Given the description of an element on the screen output the (x, y) to click on. 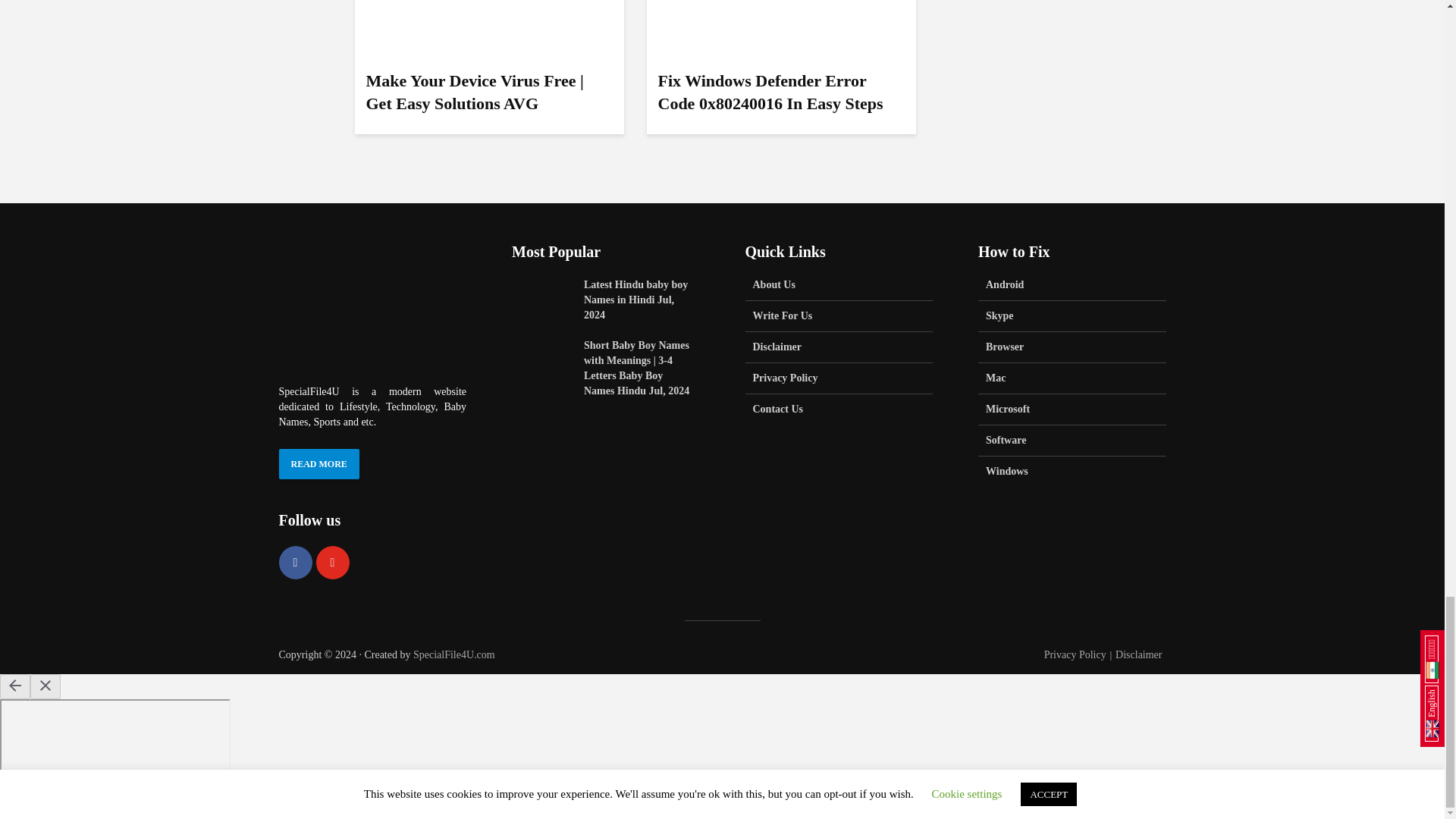
Fix Windows Defender Error Code 0x80240016 In Easy Steps (780, 3)
